Given the description of an element on the screen output the (x, y) to click on. 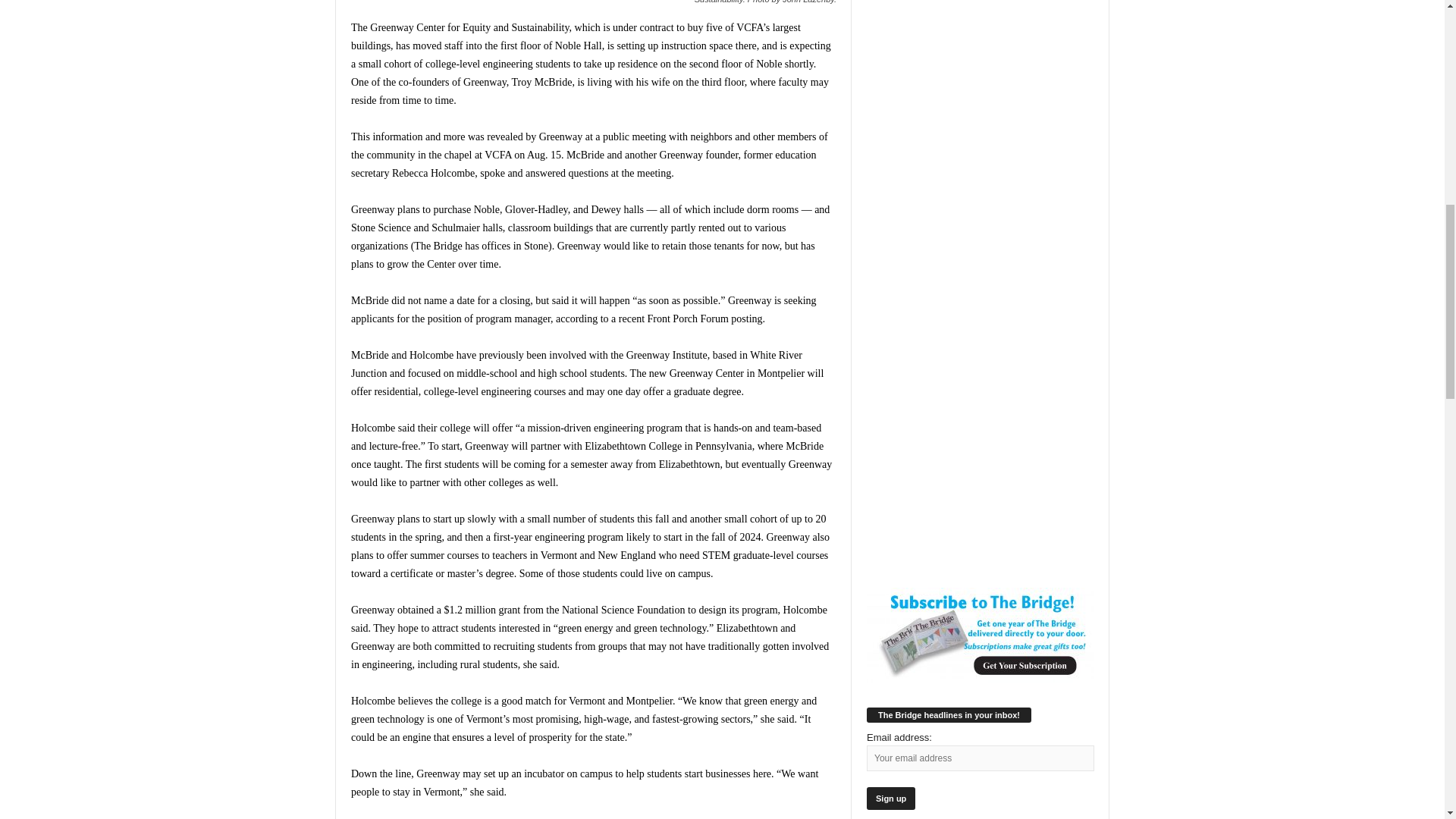
Sign up (890, 798)
